Given the description of an element on the screen output the (x, y) to click on. 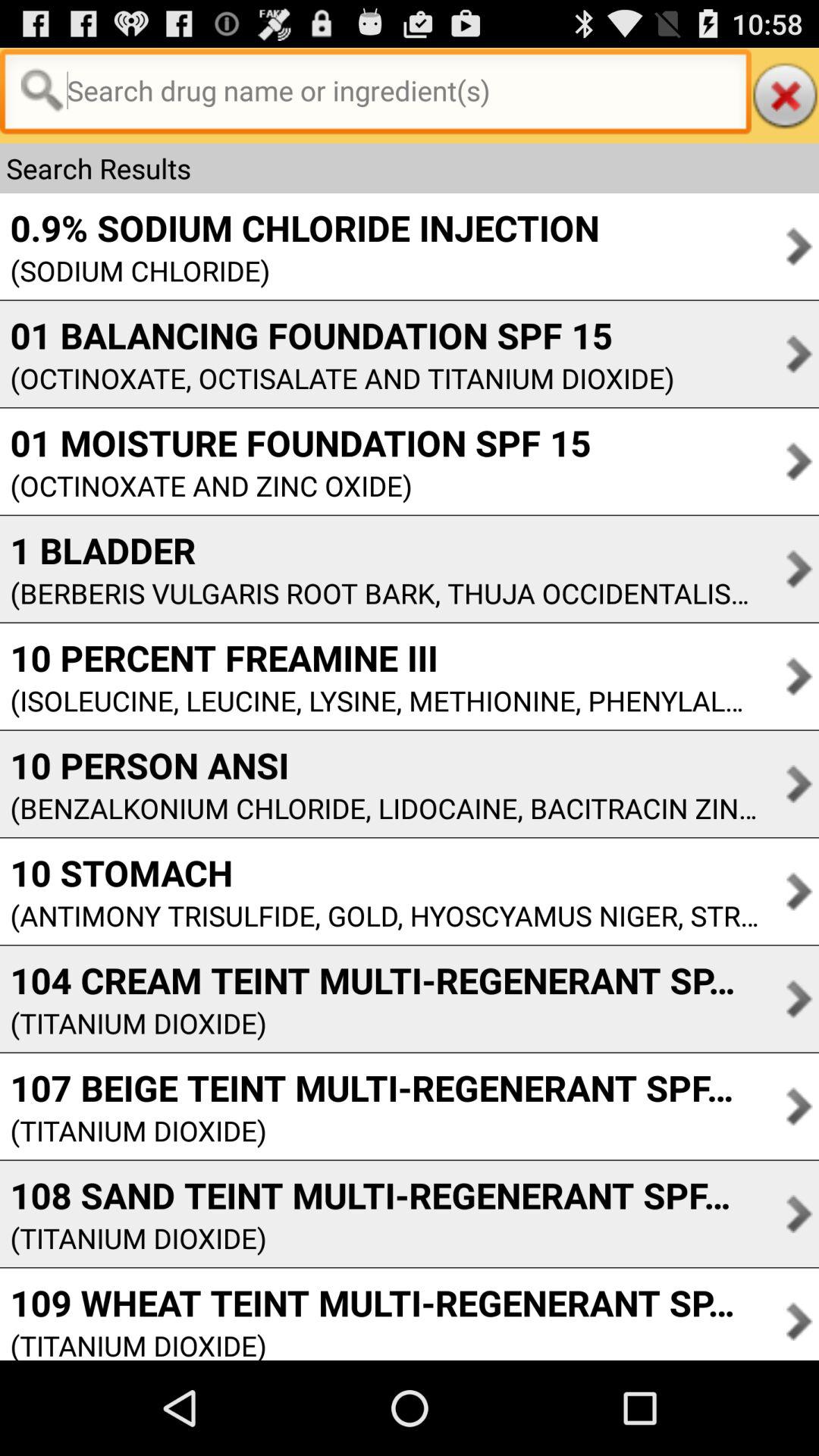
jump until the 107 beige teint app (379, 1087)
